Given the description of an element on the screen output the (x, y) to click on. 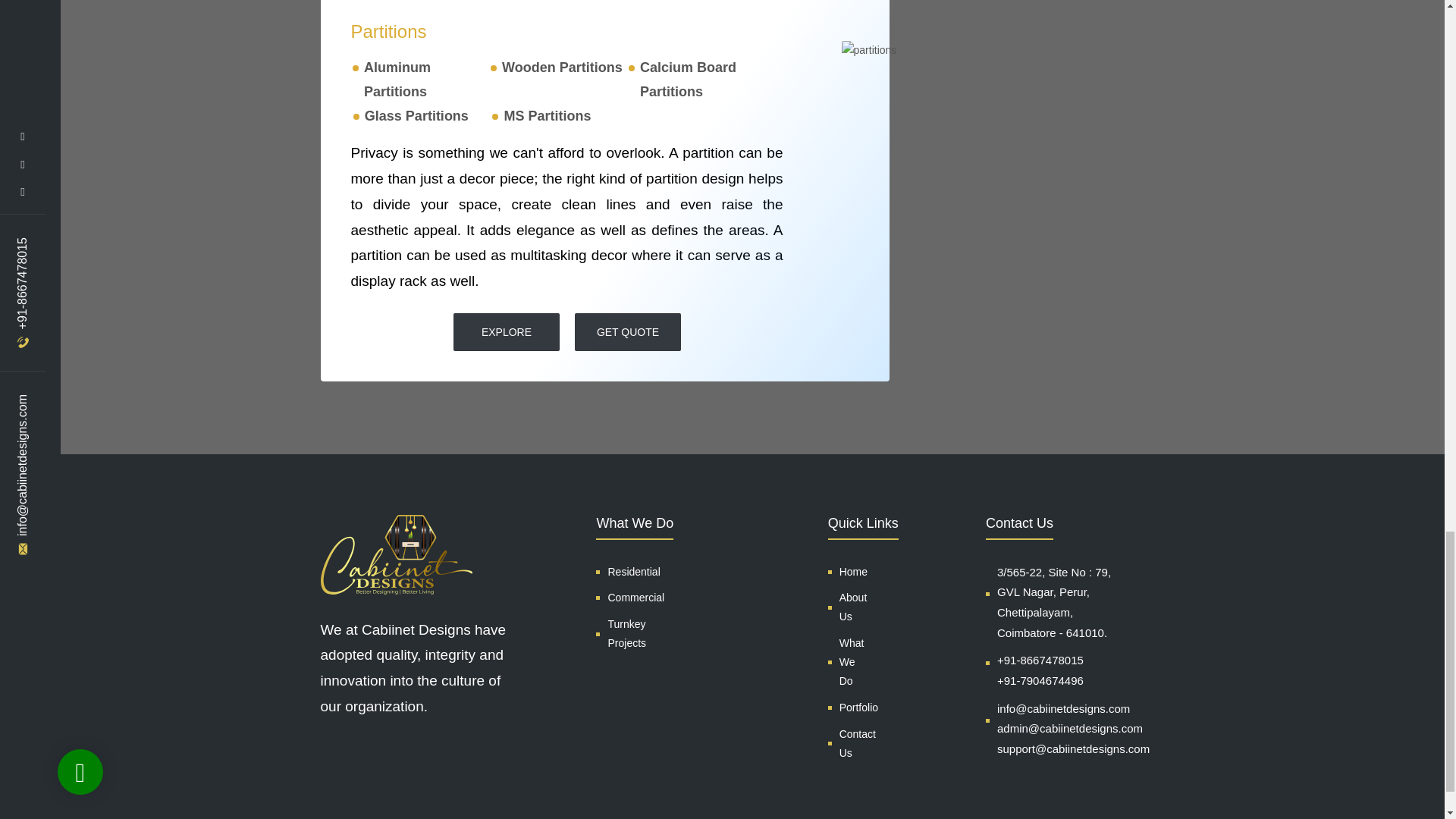
Aluminum Partitions (397, 79)
Calcium Board Partitions (688, 79)
Wooden Partitions (562, 67)
